Given the description of an element on the screen output the (x, y) to click on. 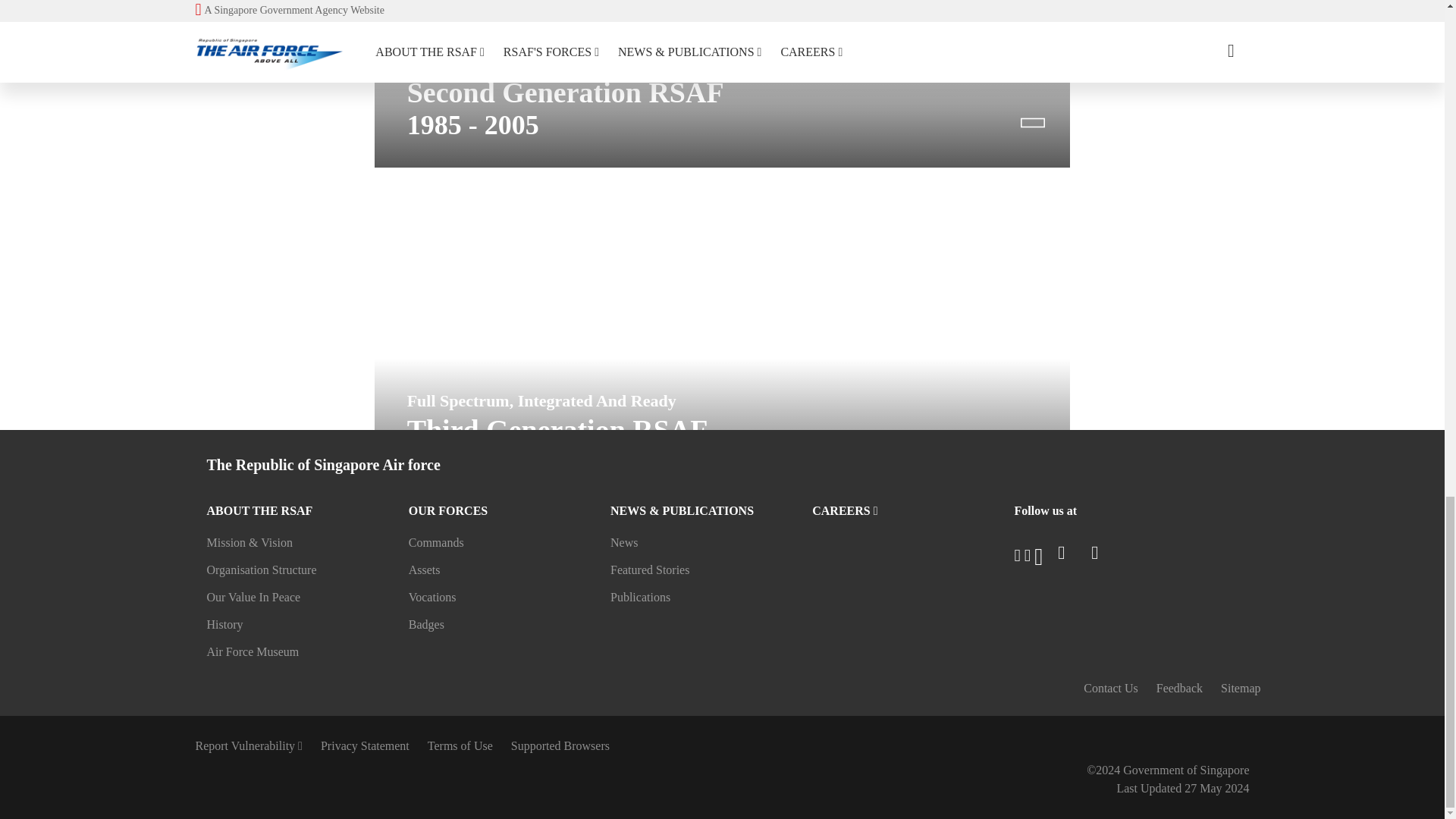
Our Value In Peace (856, 692)
About The Rsaf (255, 798)
Organisation Structure (587, 690)
Air Force Museum (1126, 690)
Our Value In Peace (856, 690)
Home (205, 798)
Air Force Museum (1126, 692)
Organisation Structure (587, 692)
